Given the description of an element on the screen output the (x, y) to click on. 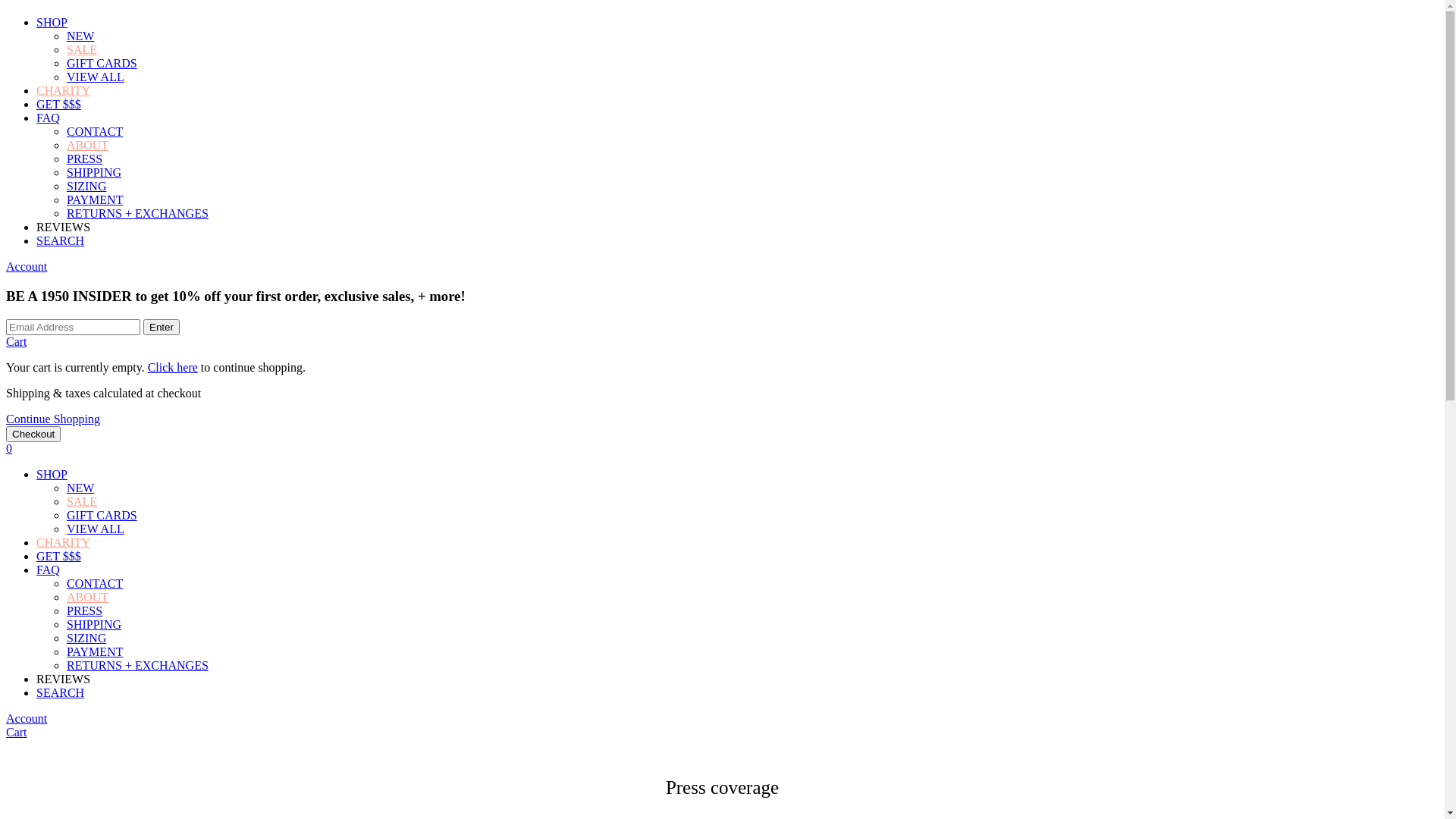
NEW Element type: text (80, 487)
SEARCH Element type: text (60, 240)
CONTACT Element type: text (94, 583)
Account Element type: text (26, 266)
RETURNS + EXCHANGES Element type: text (137, 664)
PAYMENT Element type: text (94, 199)
PRESS Element type: text (84, 610)
PAYMENT Element type: text (94, 651)
NEW Element type: text (80, 35)
SIZING Element type: text (86, 637)
PRESS Element type: text (84, 158)
CHARITY Element type: text (63, 90)
GIFT CARDS Element type: text (101, 62)
FAQ Element type: text (47, 569)
SALE Element type: text (81, 501)
GET $$$ Element type: text (58, 103)
SHOP Element type: text (51, 21)
FAQ Element type: text (47, 117)
ABOUT Element type: text (87, 144)
SIZING Element type: text (86, 185)
CONTACT Element type: text (94, 131)
Continue Shopping Element type: text (53, 418)
Cart Element type: text (16, 341)
GIFT CARDS Element type: text (101, 514)
Enter Element type: text (161, 327)
GET $$$ Element type: text (58, 555)
ABOUT Element type: text (87, 596)
SEARCH Element type: text (60, 692)
CHARITY Element type: text (63, 542)
RETURNS + EXCHANGES Element type: text (137, 213)
Account Element type: text (26, 718)
Checkout Element type: text (33, 434)
Cart Element type: text (16, 731)
SALE Element type: text (81, 49)
VIEW ALL Element type: text (95, 76)
Click here Element type: text (172, 366)
SHIPPING Element type: text (93, 172)
SHIPPING Element type: text (93, 624)
0 Element type: text (9, 448)
VIEW ALL Element type: text (95, 528)
SHOP Element type: text (51, 473)
